Given the description of an element on the screen output the (x, y) to click on. 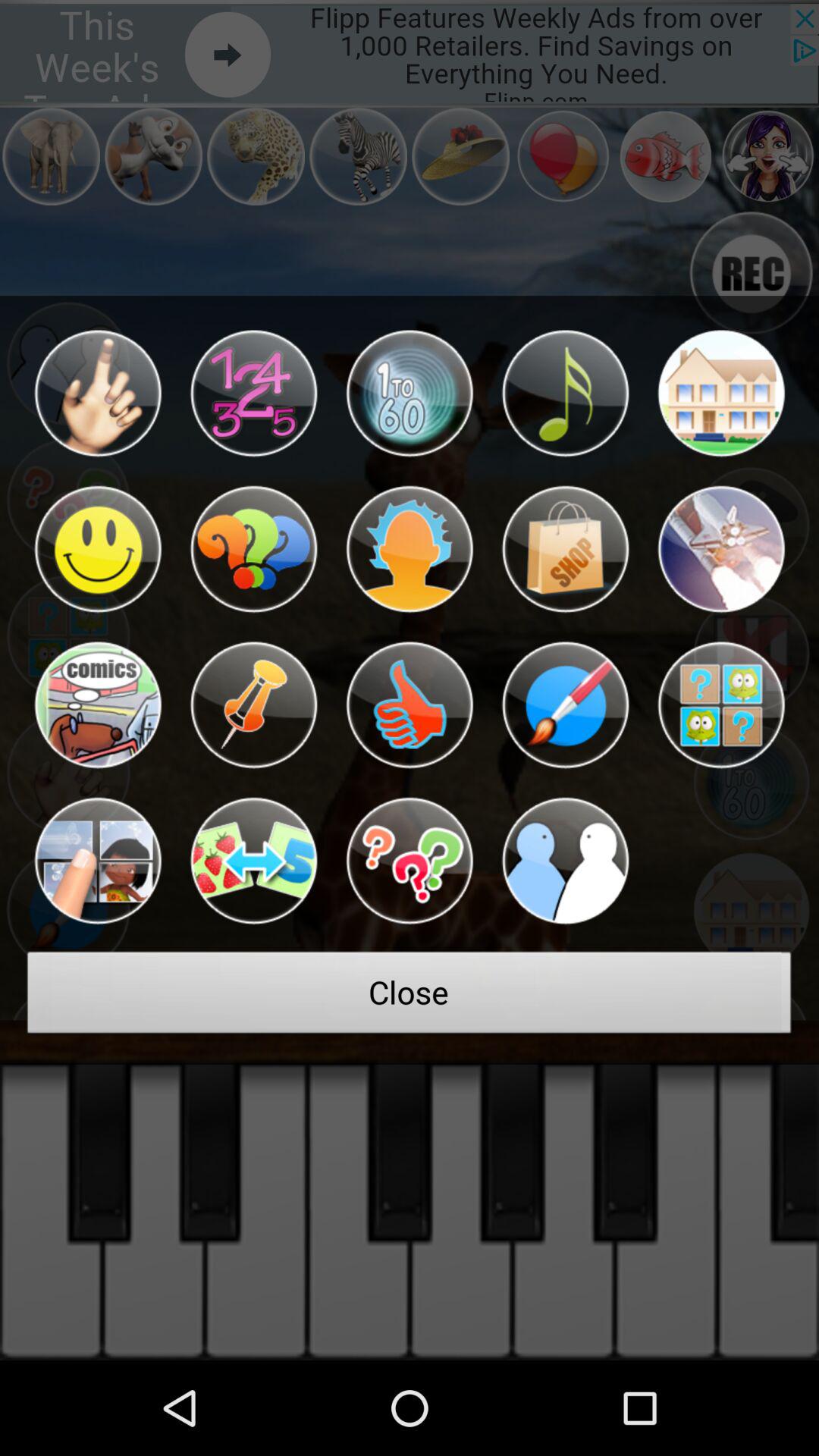
select this icon (97, 549)
